Given the description of an element on the screen output the (x, y) to click on. 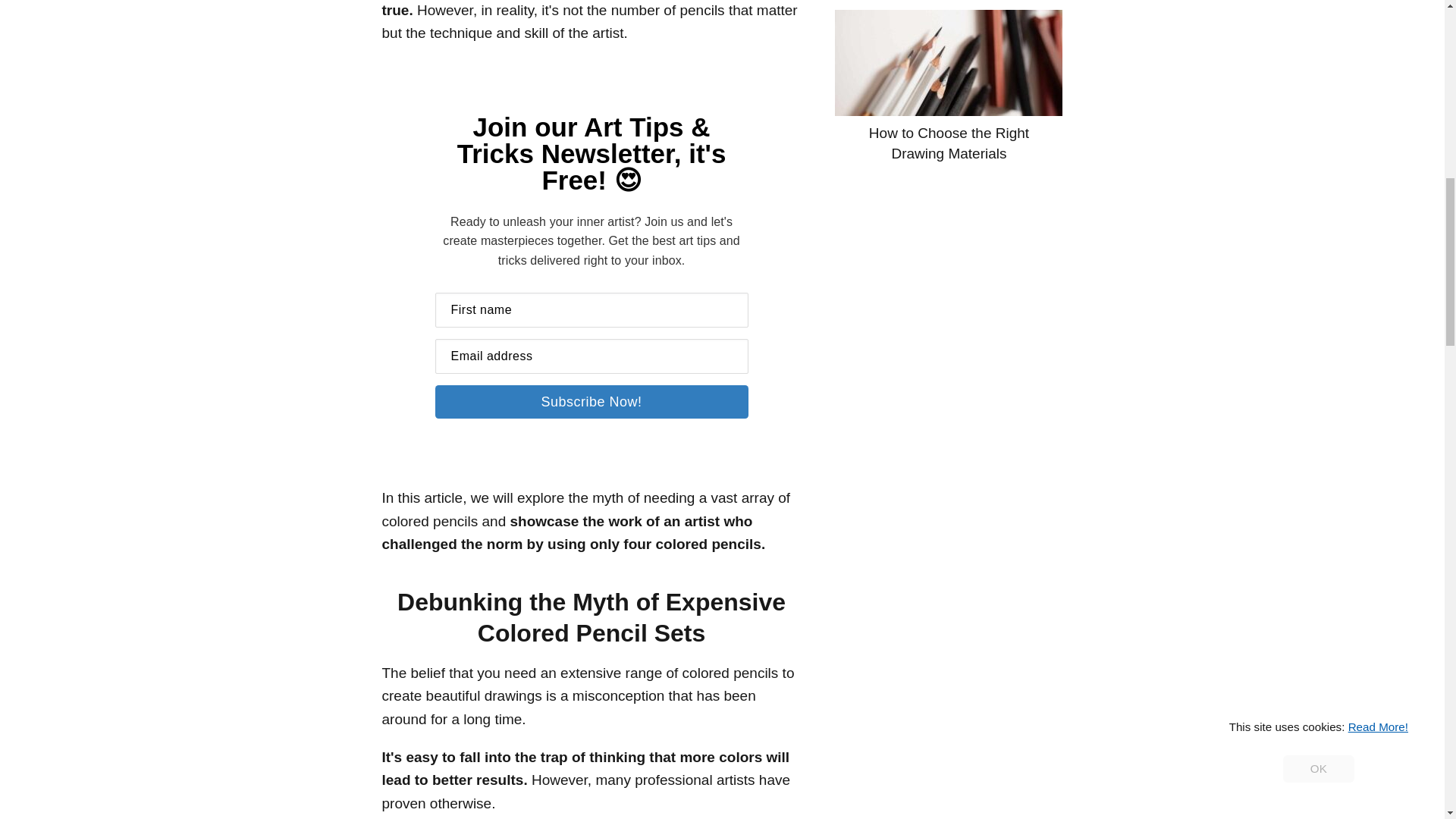
Subscribe Now! (591, 401)
How to Choose the Right Drawing Materials (948, 86)
